Given the description of an element on the screen output the (x, y) to click on. 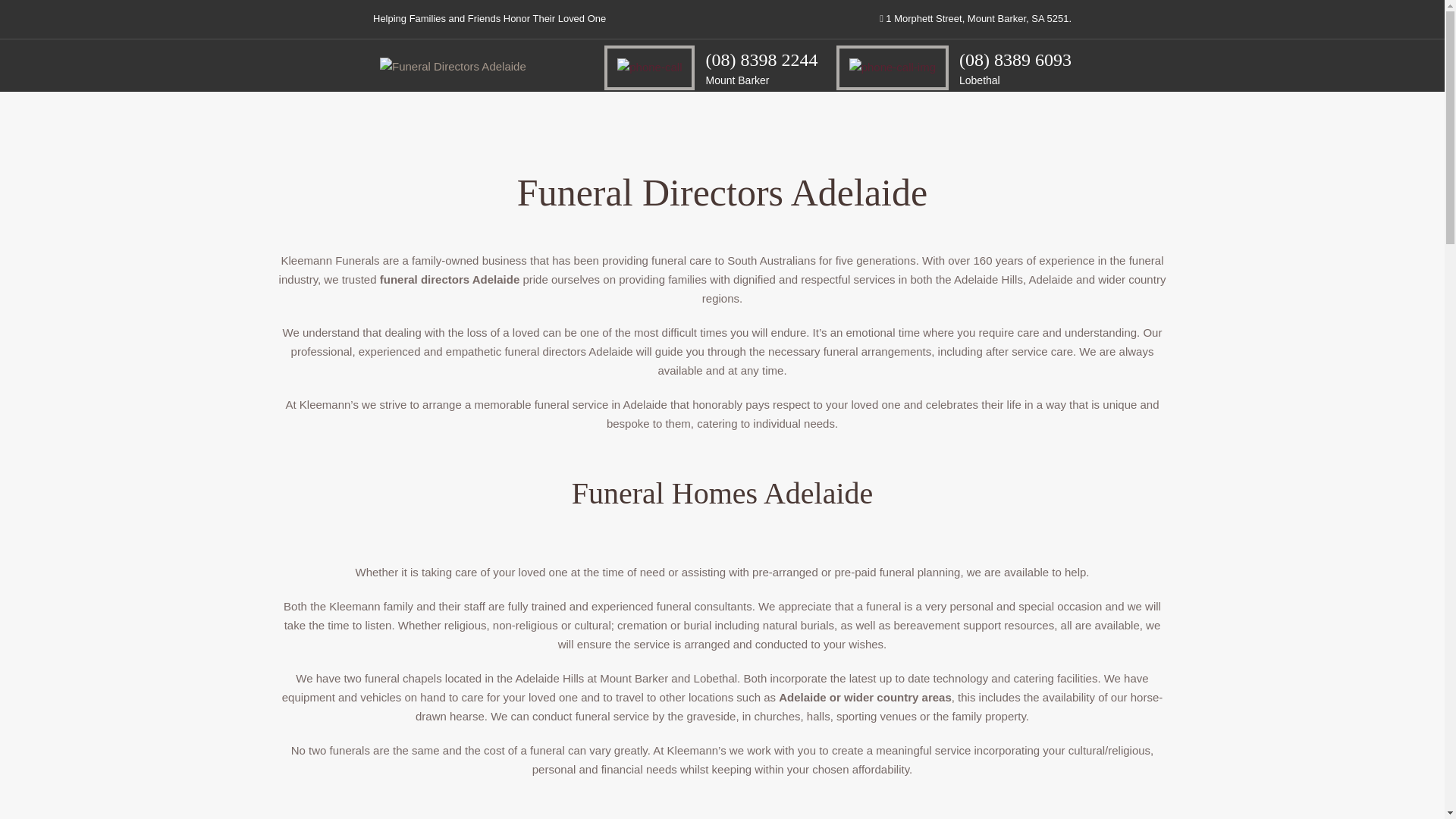
Lobethal (979, 80)
Mount Barker (736, 80)
